Given the description of an element on the screen output the (x, y) to click on. 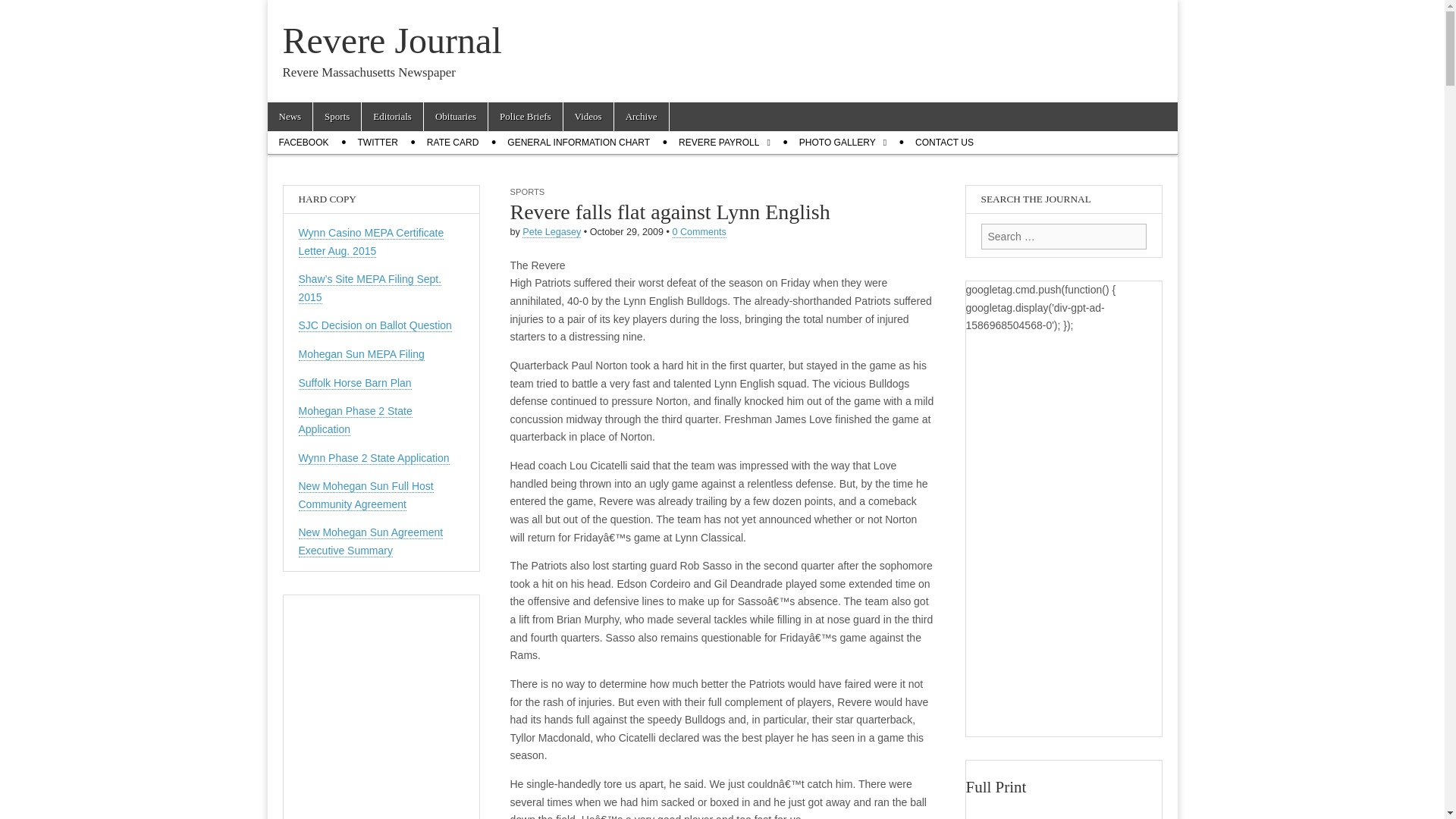
News (289, 116)
SPORTS (526, 191)
Revere Journal (391, 40)
Pete Legasey (551, 232)
RATE CARD (451, 142)
REVERE PAYROLL (723, 142)
Police Briefs (524, 116)
PHOTO GALLERY (842, 142)
Archive (641, 116)
